Given the description of an element on the screen output the (x, y) to click on. 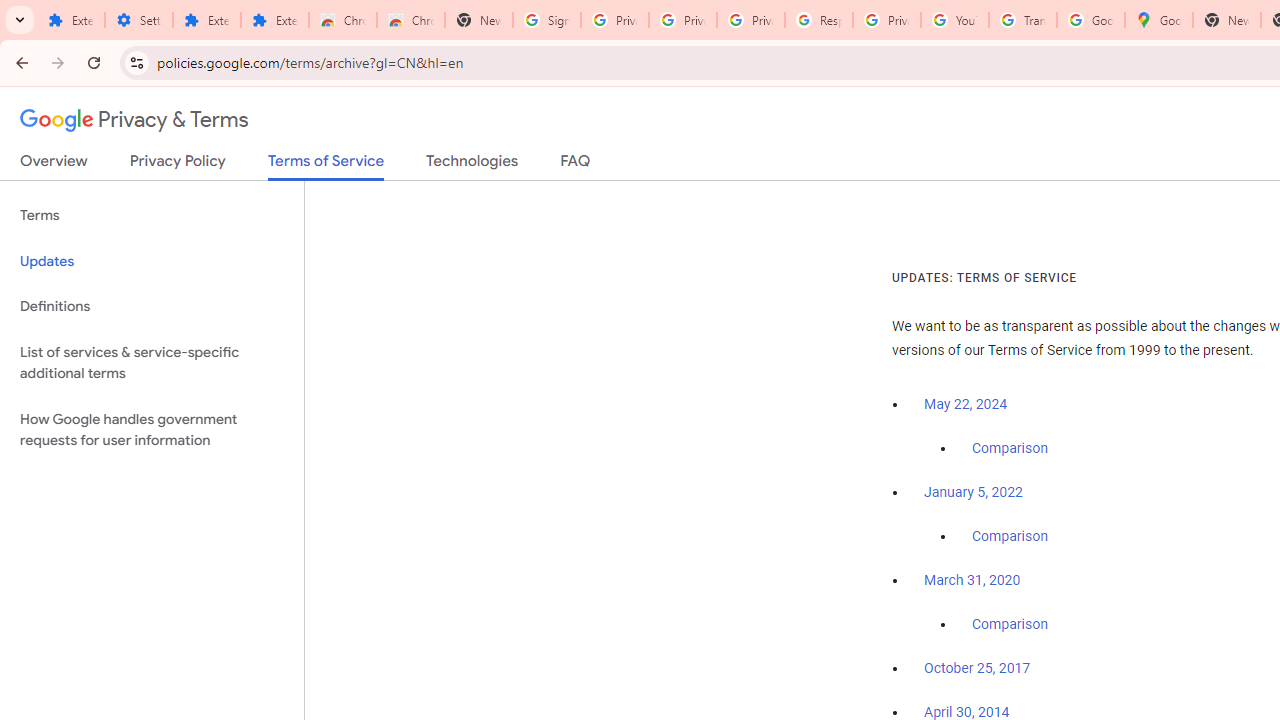
Terms (152, 215)
Technologies (472, 165)
FAQ (575, 165)
October 25, 2017 (977, 669)
Terms of Service (326, 166)
New Tab (1226, 20)
Settings (138, 20)
Extensions (70, 20)
May 22, 2024 (966, 404)
